Given the description of an element on the screen output the (x, y) to click on. 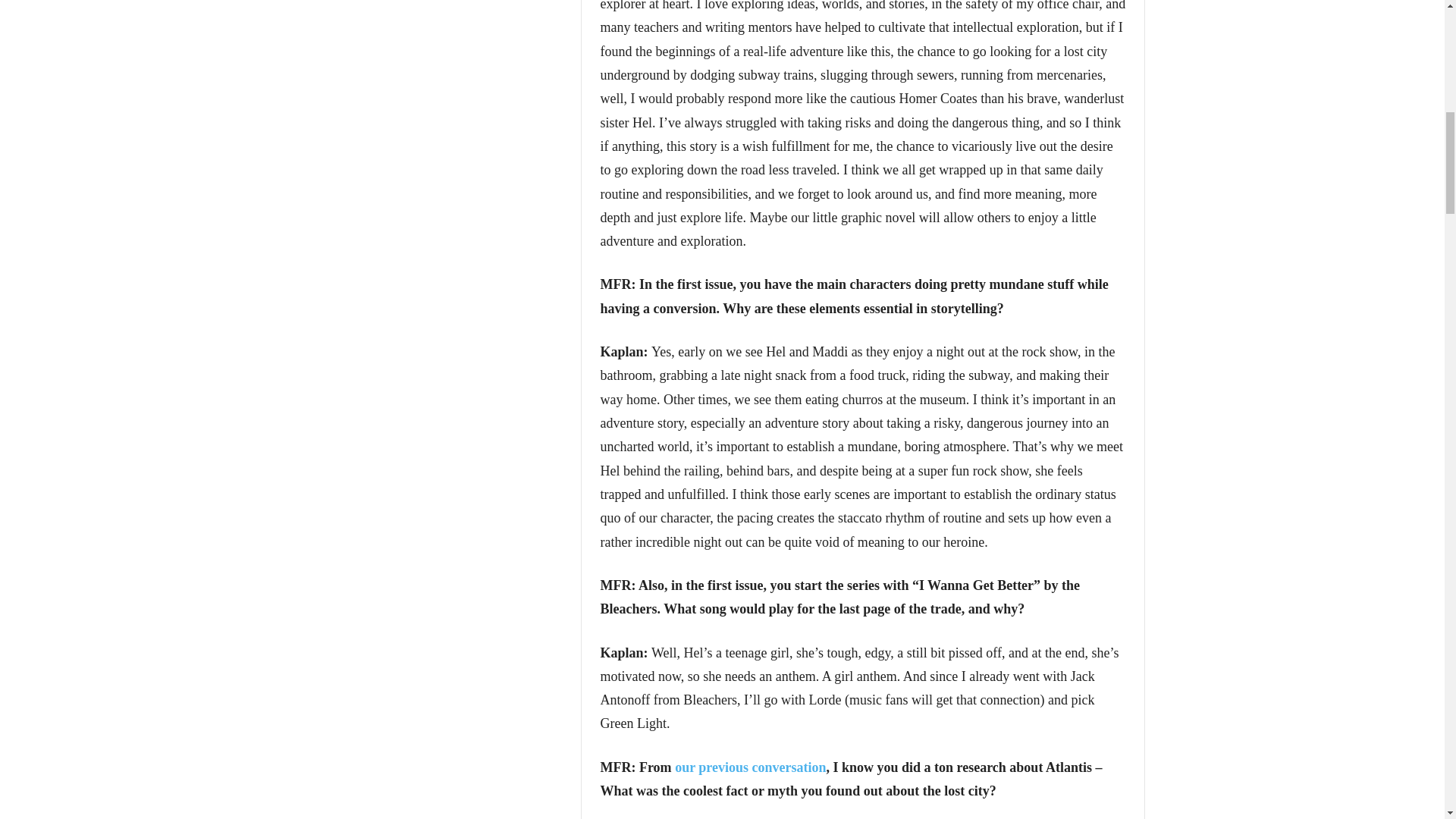
our previous conversation (750, 767)
